Given the description of an element on the screen output the (x, y) to click on. 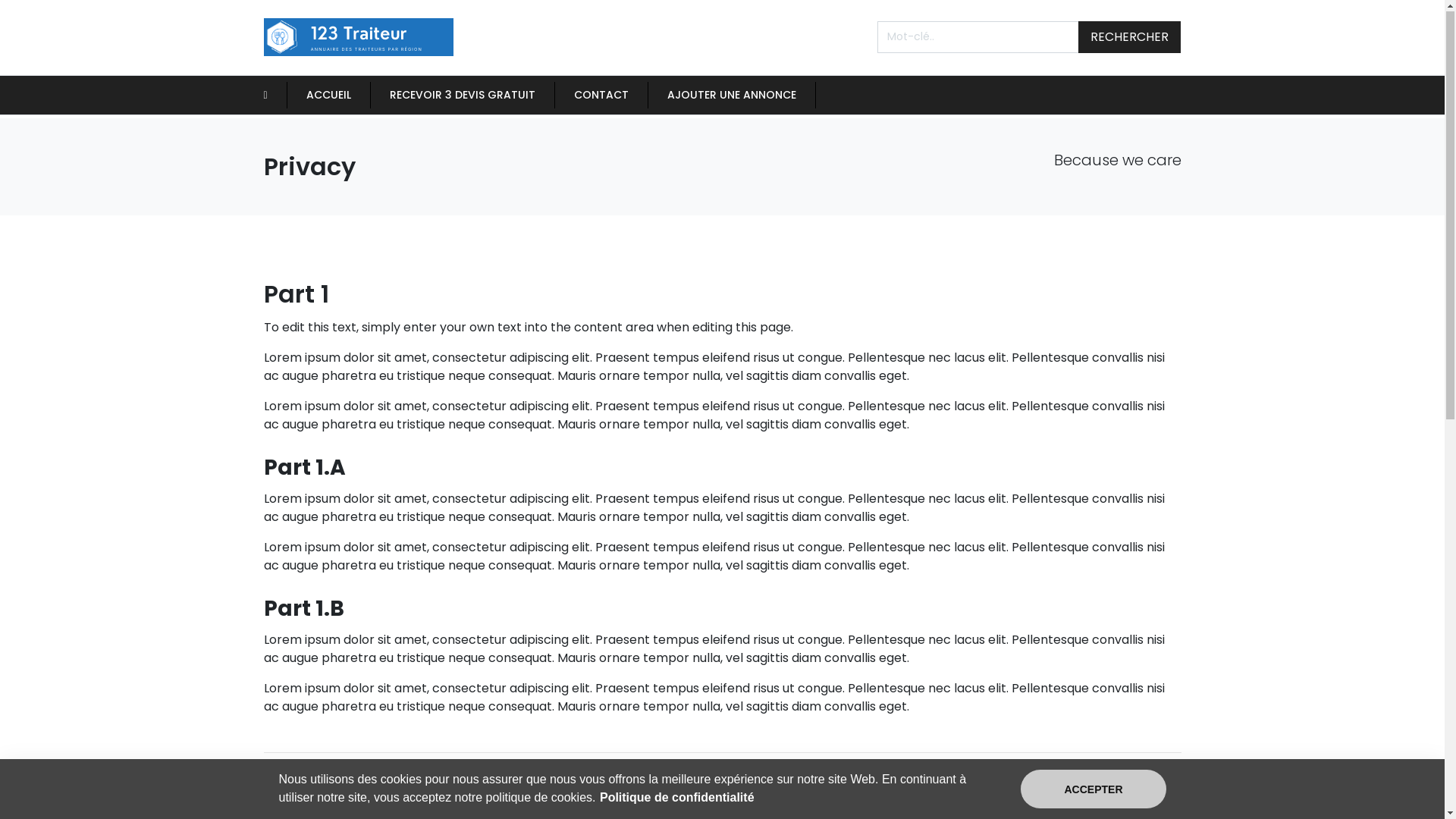
ACCEPTER Element type: text (1092, 789)
CONTACT Element type: text (601, 95)
RECHERCHER Element type: text (1129, 37)
AJOUTER UNE ANNONCE Element type: text (731, 95)
RECEVOIR 3 DEVIS GRATUIT Element type: text (462, 95)
ACCUEIL Element type: text (328, 95)
